Given the description of an element on the screen output the (x, y) to click on. 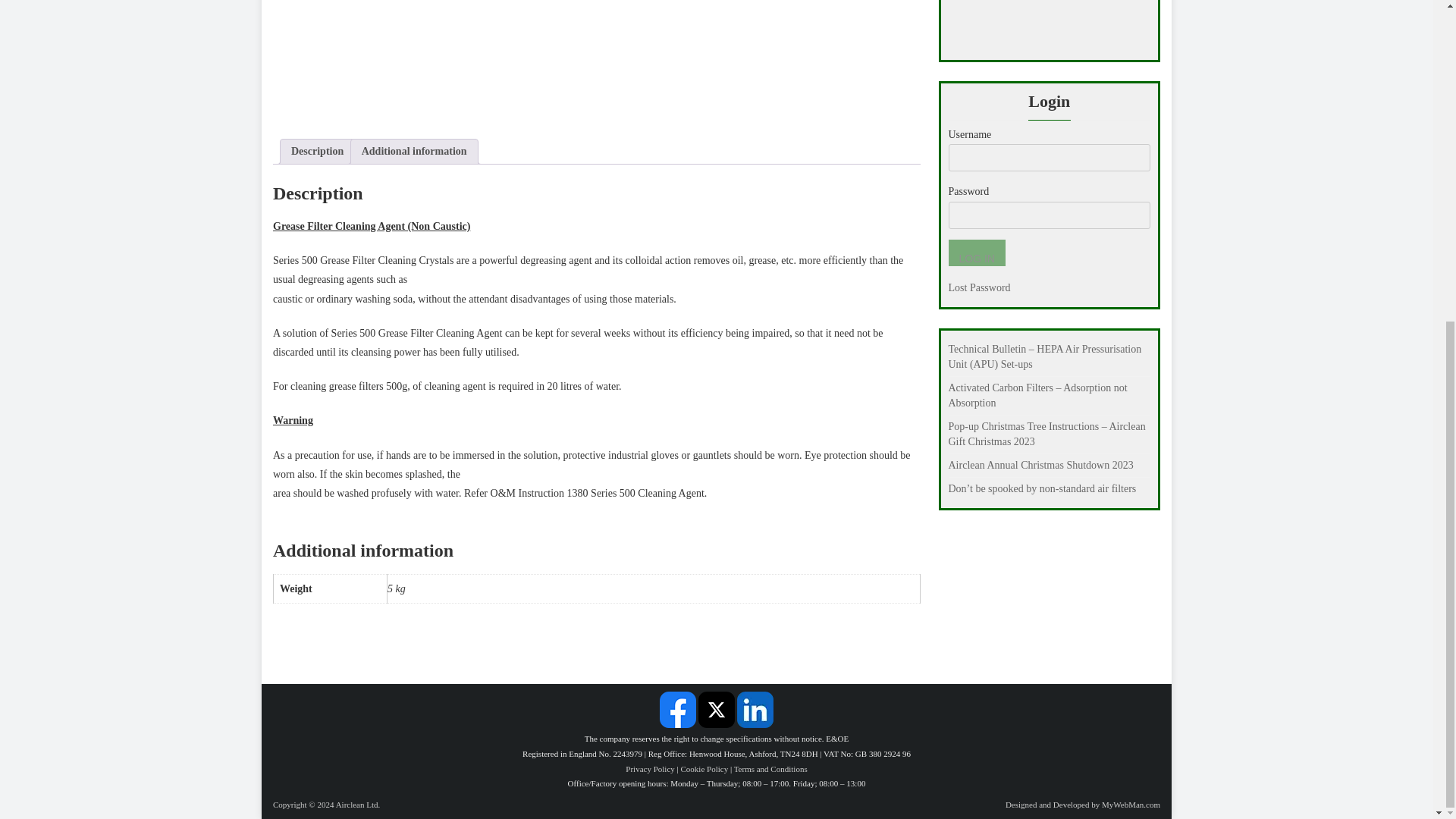
Log In (975, 252)
